Given the description of an element on the screen output the (x, y) to click on. 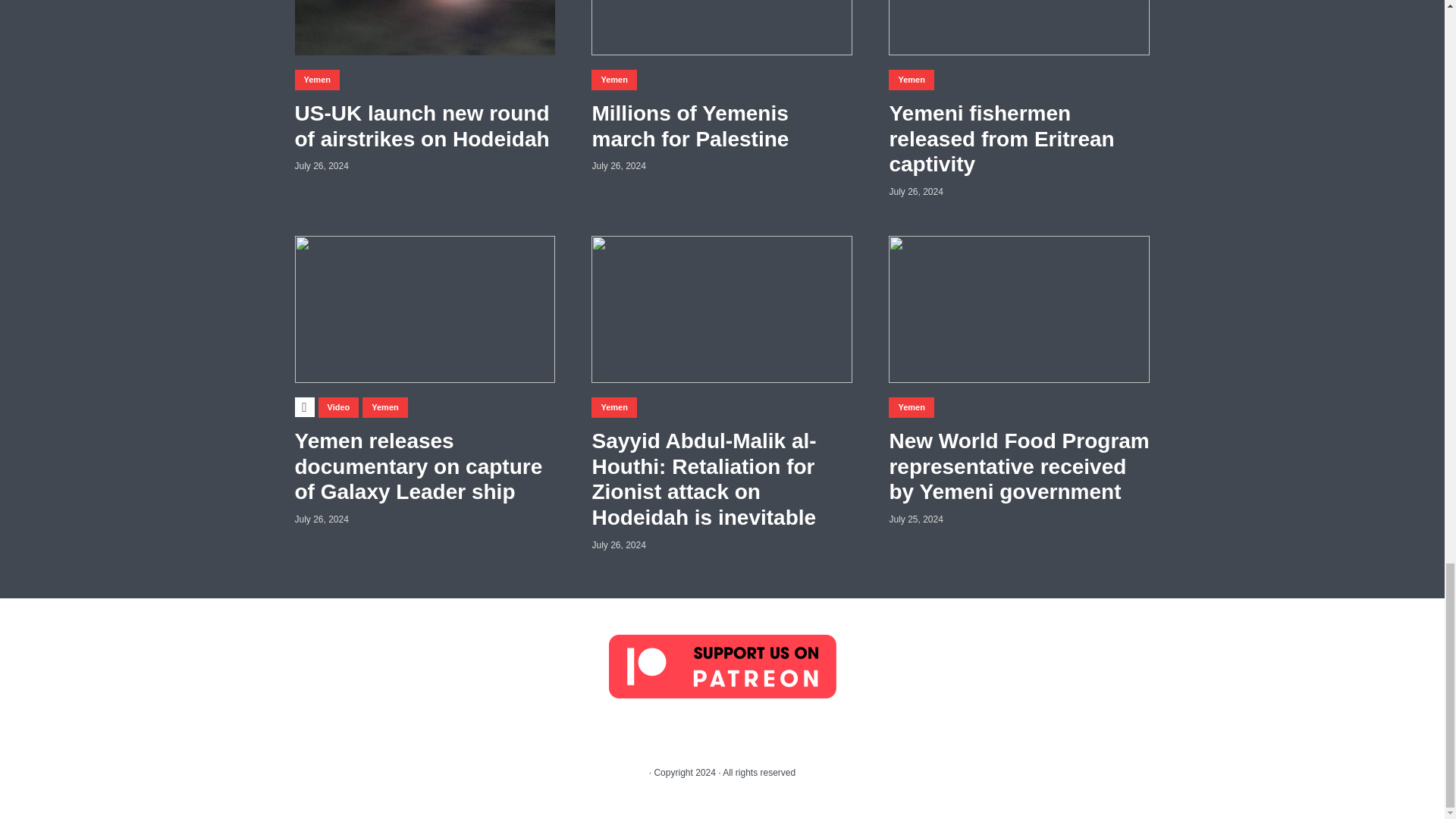
Yemen (316, 79)
